Given the description of an element on the screen output the (x, y) to click on. 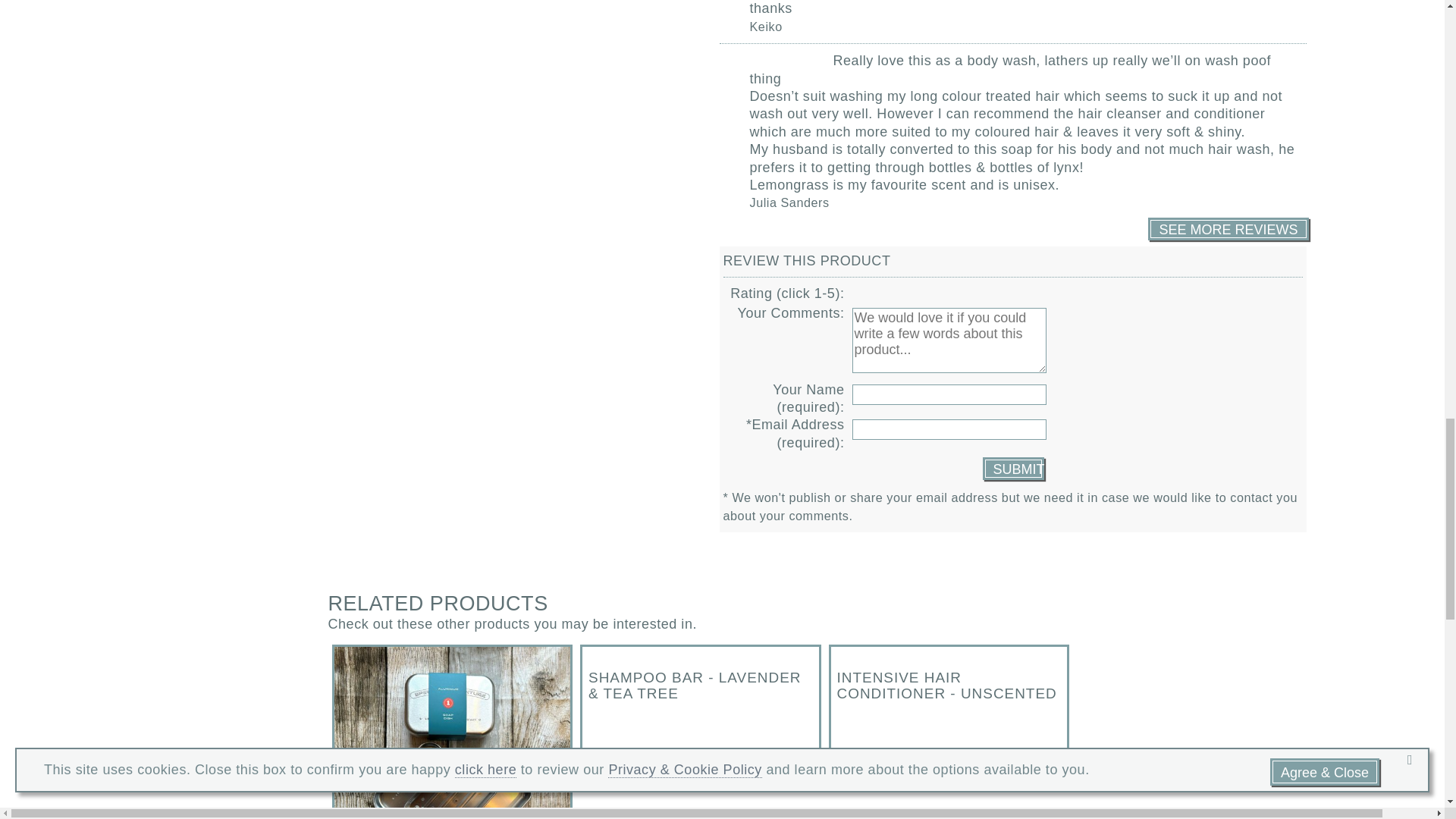
review (1012, 468)
see more reviews (1228, 229)
Intensive Hair Conditioner - Unscented (949, 705)
Soap dish with integral drainage (451, 733)
